Given the description of an element on the screen output the (x, y) to click on. 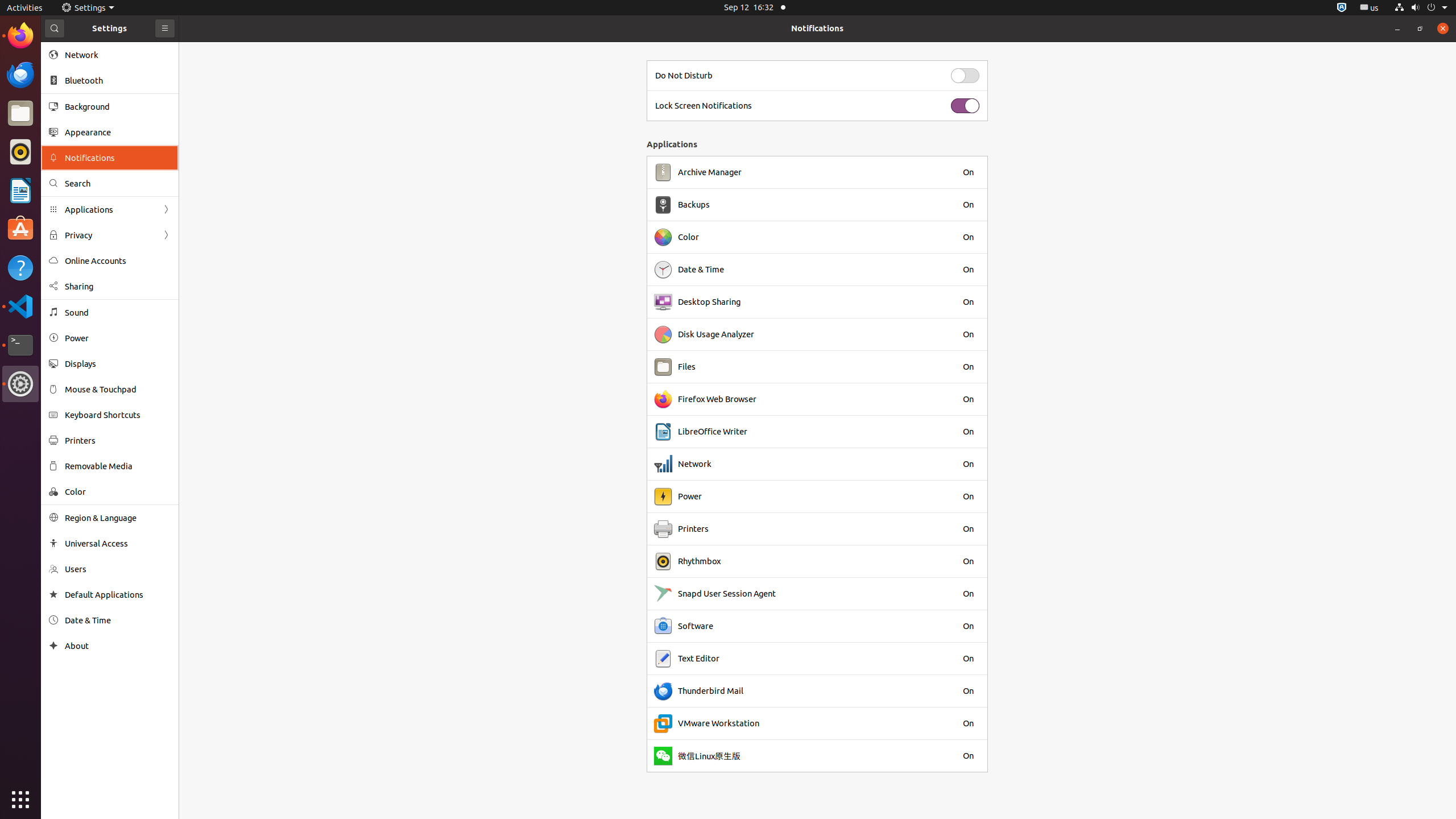
Close Element type: push-button (1442, 27)
Trash Element type: label (75, 108)
